Given the description of an element on the screen output the (x, y) to click on. 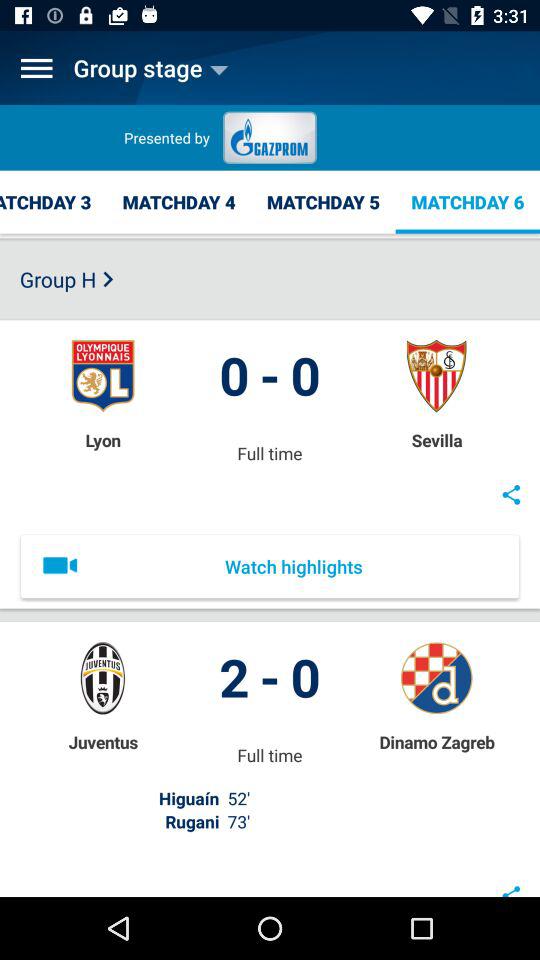
choose item above matchday 3 icon (36, 68)
